Given the description of an element on the screen output the (x, y) to click on. 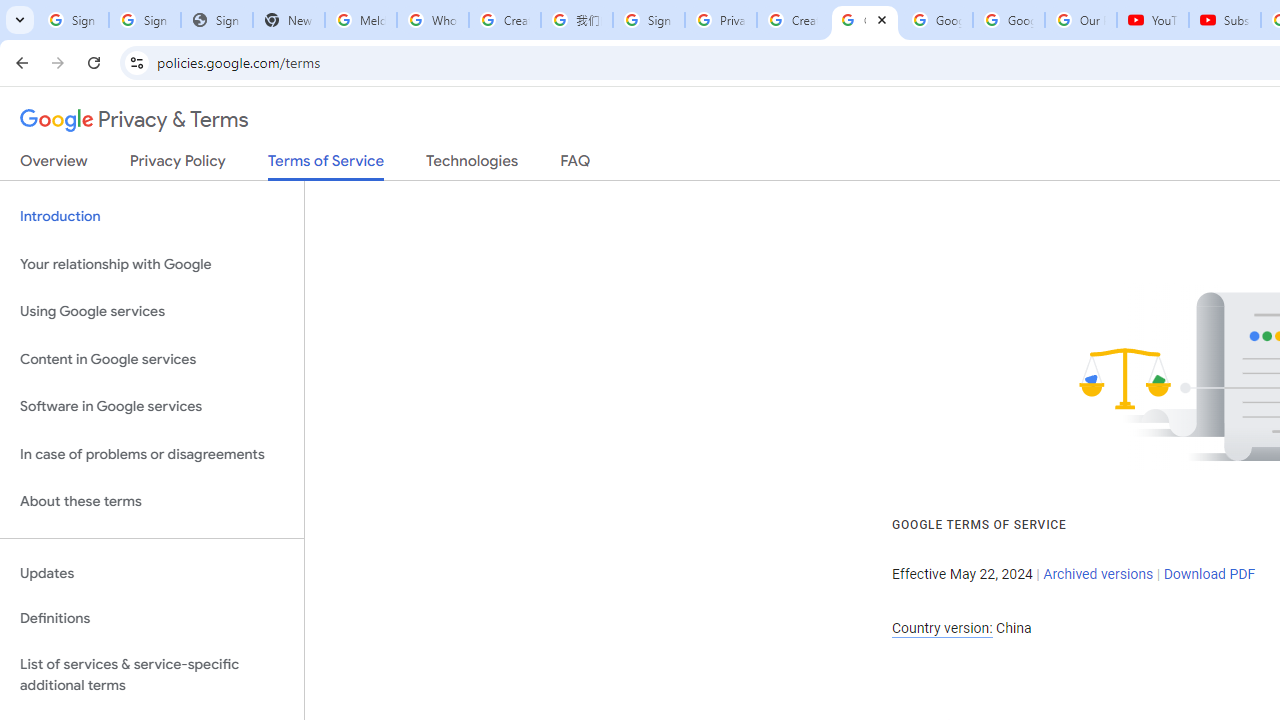
New Tab (289, 20)
Content in Google services (152, 358)
Who is my administrator? - Google Account Help (432, 20)
Definitions (152, 619)
Create your Google Account (792, 20)
Your relationship with Google (152, 263)
Technologies (472, 165)
In case of problems or disagreements (152, 453)
Privacy Policy (177, 165)
Sign in - Google Accounts (144, 20)
Using Google services (152, 312)
